Given the description of an element on the screen output the (x, y) to click on. 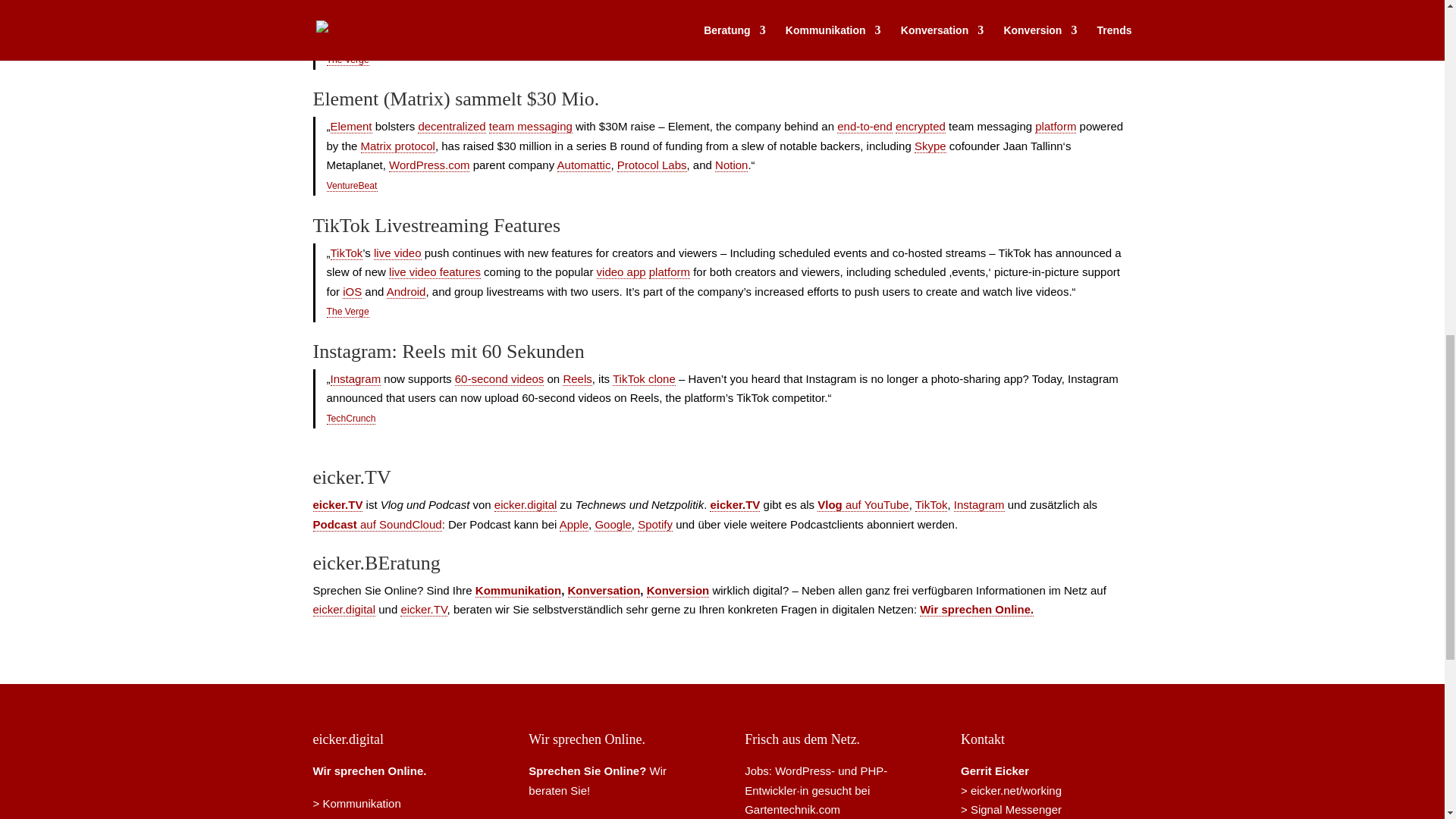
Konversationsberatung (603, 590)
Konversionsberatung (678, 590)
eicker.BEratung: Wir sprechen Online. (369, 770)
eicker.TV (735, 504)
Kommunikationsberatung (518, 590)
Kommunikationsberatung (356, 802)
